Given the description of an element on the screen output the (x, y) to click on. 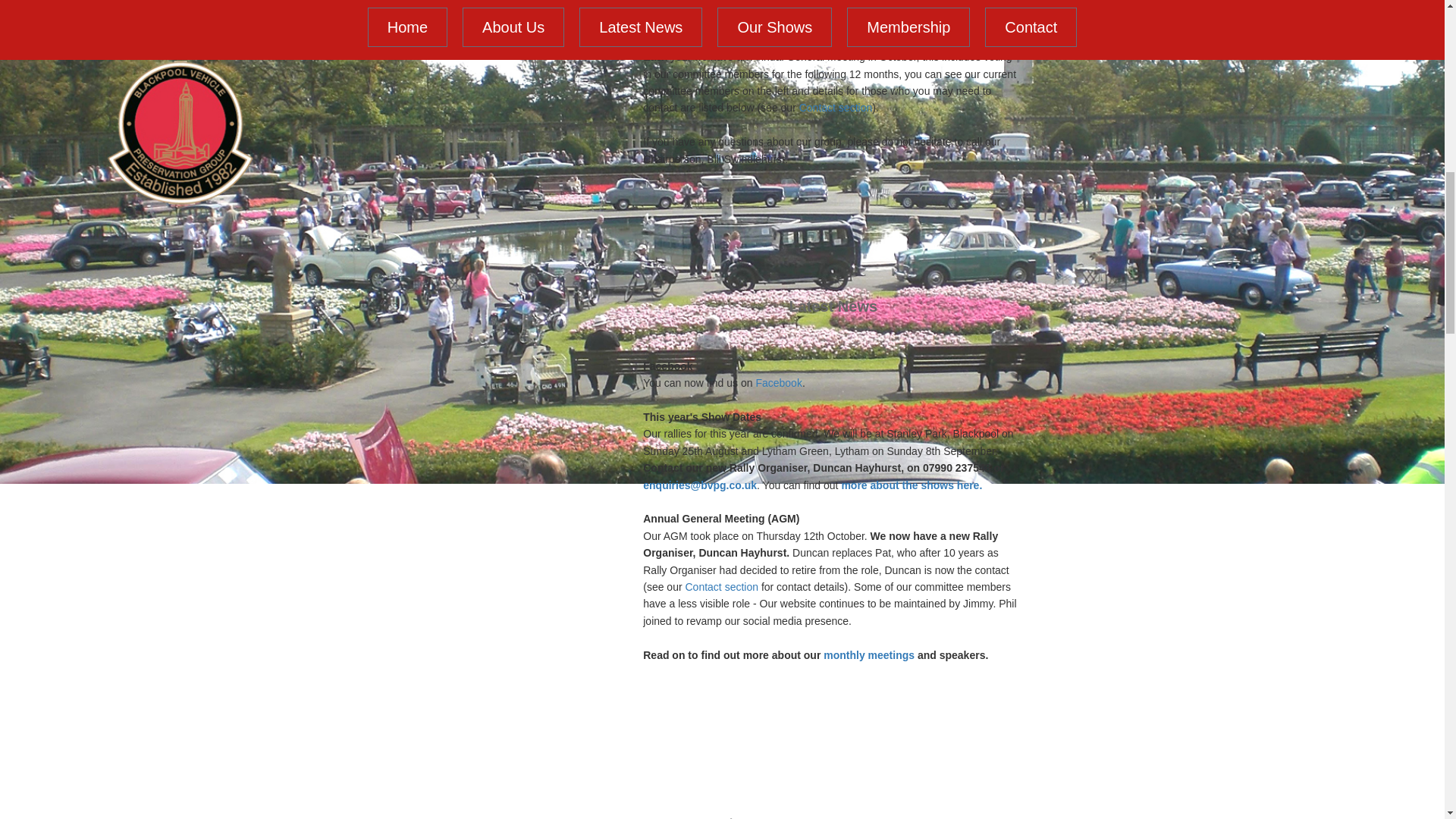
monthly meetings (869, 654)
Contact section (835, 107)
Contact section (721, 586)
Facebook (778, 382)
more about the shows here. (911, 485)
